Given the description of an element on the screen output the (x, y) to click on. 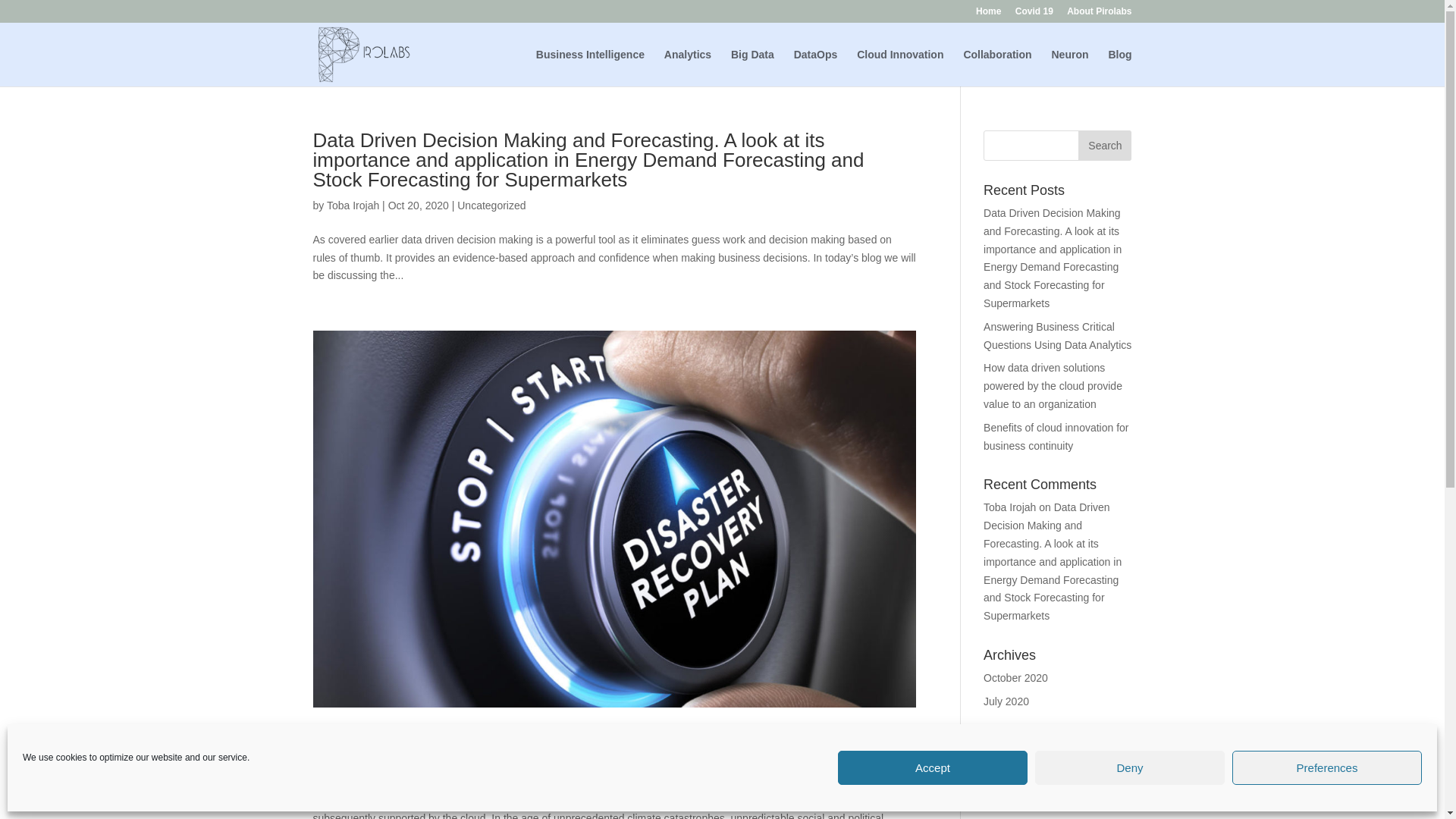
Cloud Innovation (900, 67)
Home (988, 14)
Posts by Peter Irojah (353, 766)
Posts by Toba Irojah (352, 205)
Uncategorized (491, 205)
Analytics (687, 67)
Big Data (752, 67)
Covid 19 (1033, 14)
Preferences (1326, 767)
Benefits of cloud innovation for business continuity (533, 739)
DataOps (815, 67)
Search (1104, 145)
Accept (932, 767)
Business Intelligence (590, 67)
Deny (1129, 767)
